Given the description of an element on the screen output the (x, y) to click on. 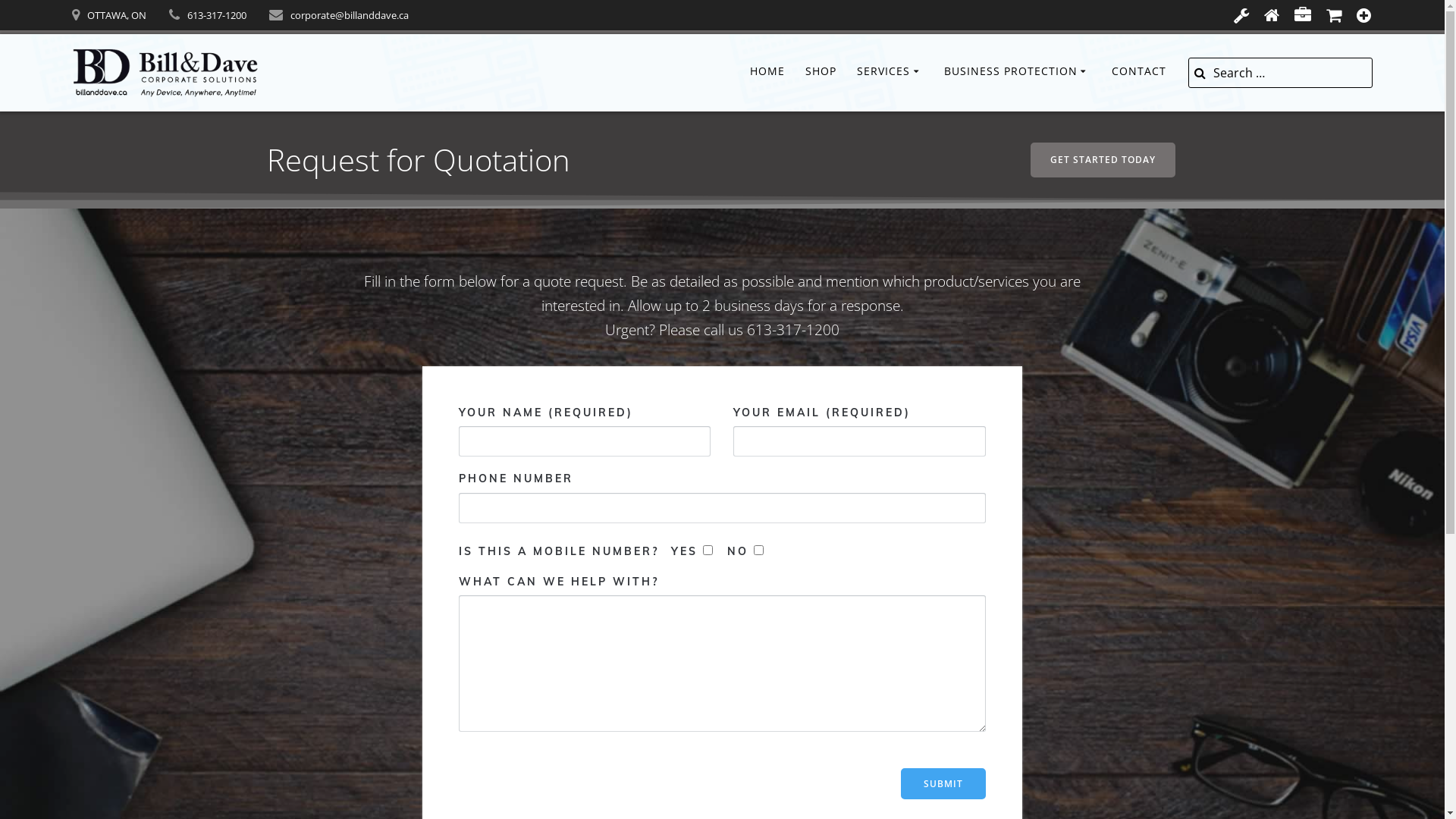
SERVICES Element type: text (889, 71)
CONTACT Element type: text (1138, 71)
corporate@billanddave.ca Element type: text (349, 14)
OTTAWA, ON Element type: text (116, 14)
Submit Element type: text (942, 783)
BUSINESS PROTECTION Element type: text (1017, 71)
HOME Element type: text (766, 71)
GET STARTED TODAY Element type: text (1102, 159)
613-317-1200 Element type: text (216, 14)
SHOP Element type: text (820, 71)
